Given the description of an element on the screen output the (x, y) to click on. 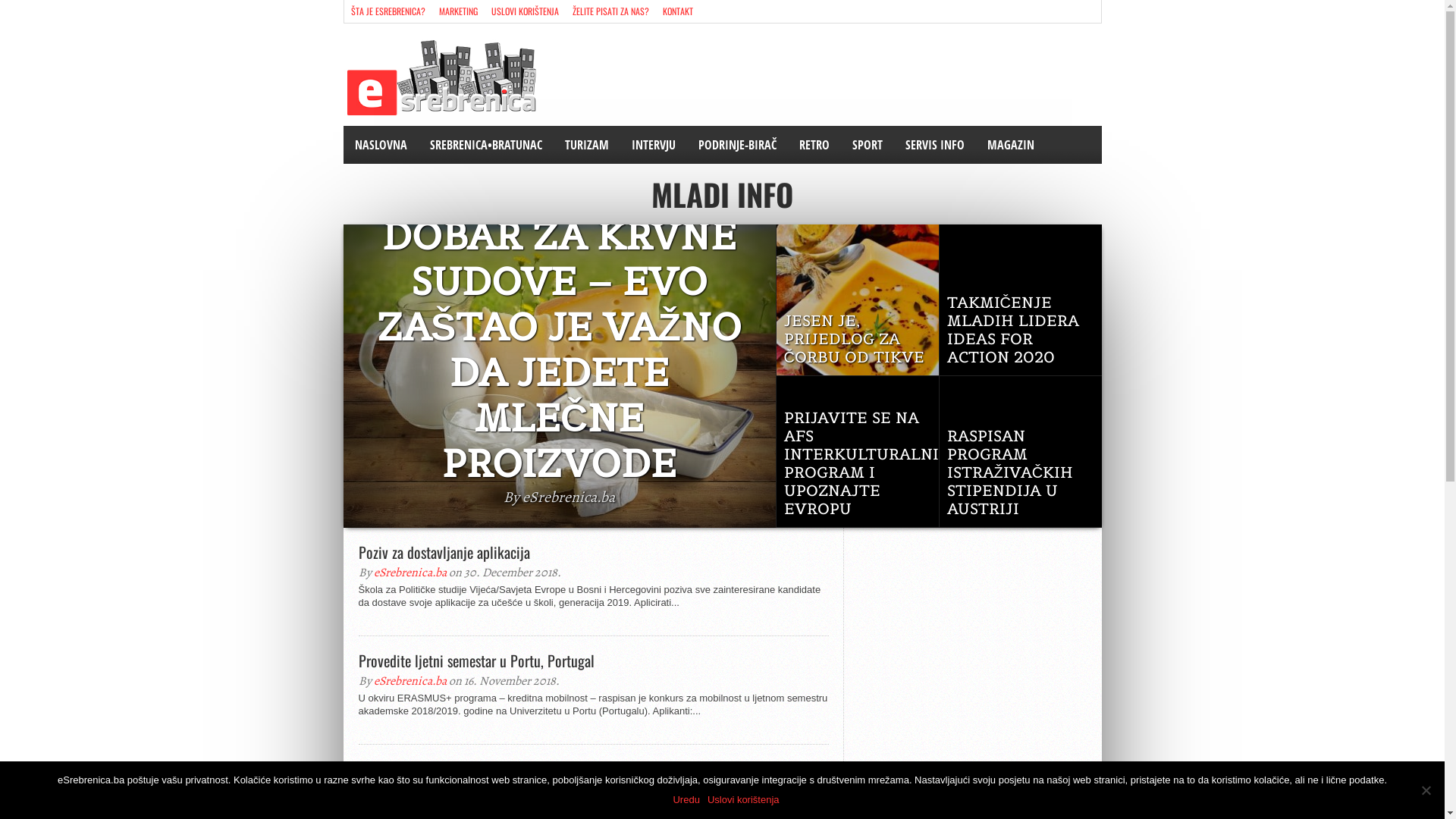
Uredu Element type: text (685, 799)
Poziv za dostavljanje aplikacija Element type: text (592, 551)
TURIZAM Element type: text (586, 144)
NASLOVNA Element type: text (379, 144)
eSrebrenica.ba Element type: text (409, 680)
MARKETING Element type: text (458, 11)
eSrebrenica.ba Element type: text (409, 572)
Provedite ljetni semestar u Portu, Portugal Element type: text (592, 660)
MAGAZIN Element type: text (1009, 144)
RETRO Element type: text (813, 144)
eSrebrenica.ba Element type: text (409, 789)
No Element type: hover (1425, 789)
SPORT Element type: text (866, 144)
INTERVJU Element type: text (653, 144)
SERVIS INFO Element type: text (934, 144)
KONTAKT Element type: text (677, 11)
